Given the description of an element on the screen output the (x, y) to click on. 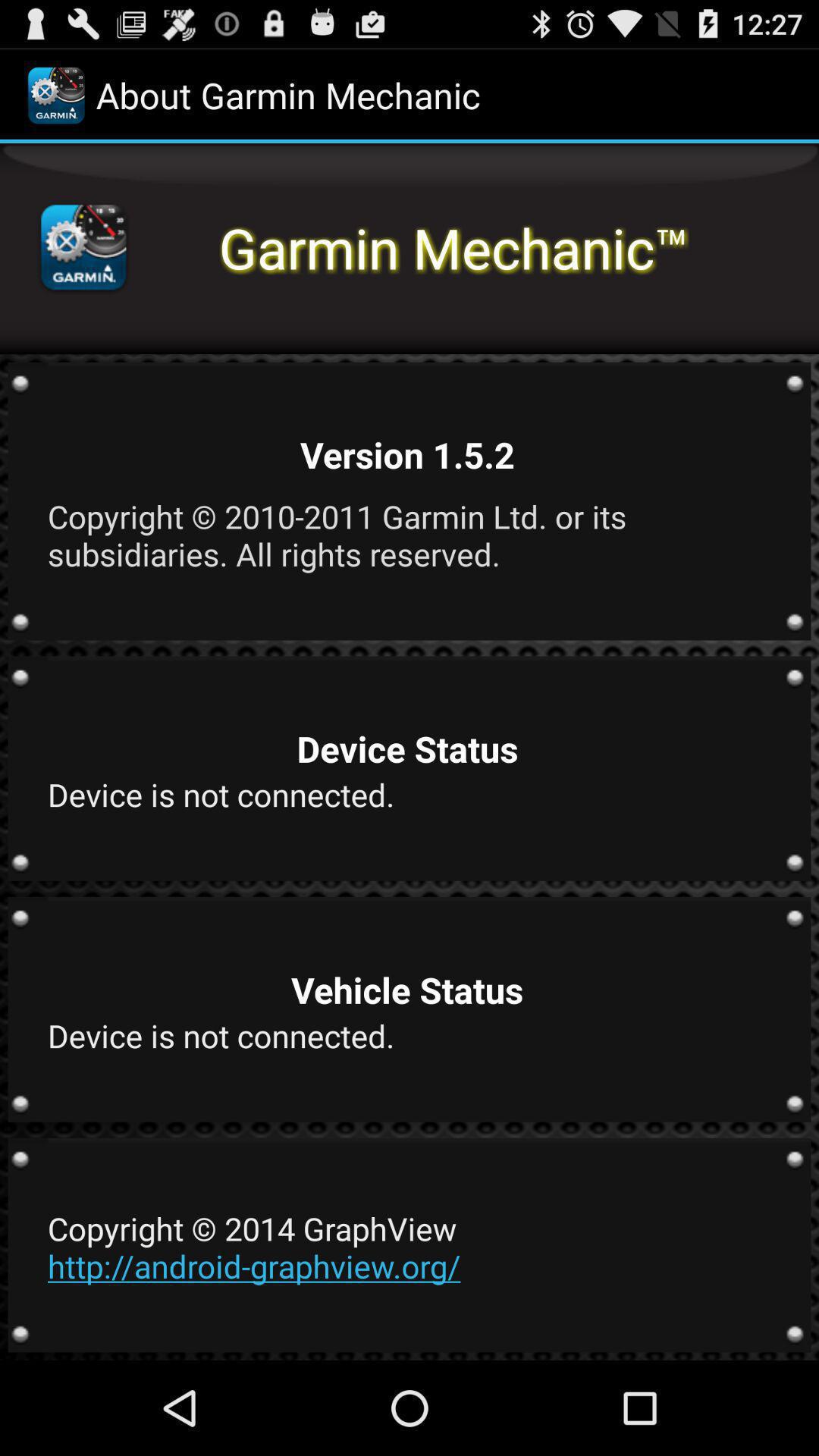
swipe to the copyright 2014 graphview item (407, 1246)
